Given the description of an element on the screen output the (x, y) to click on. 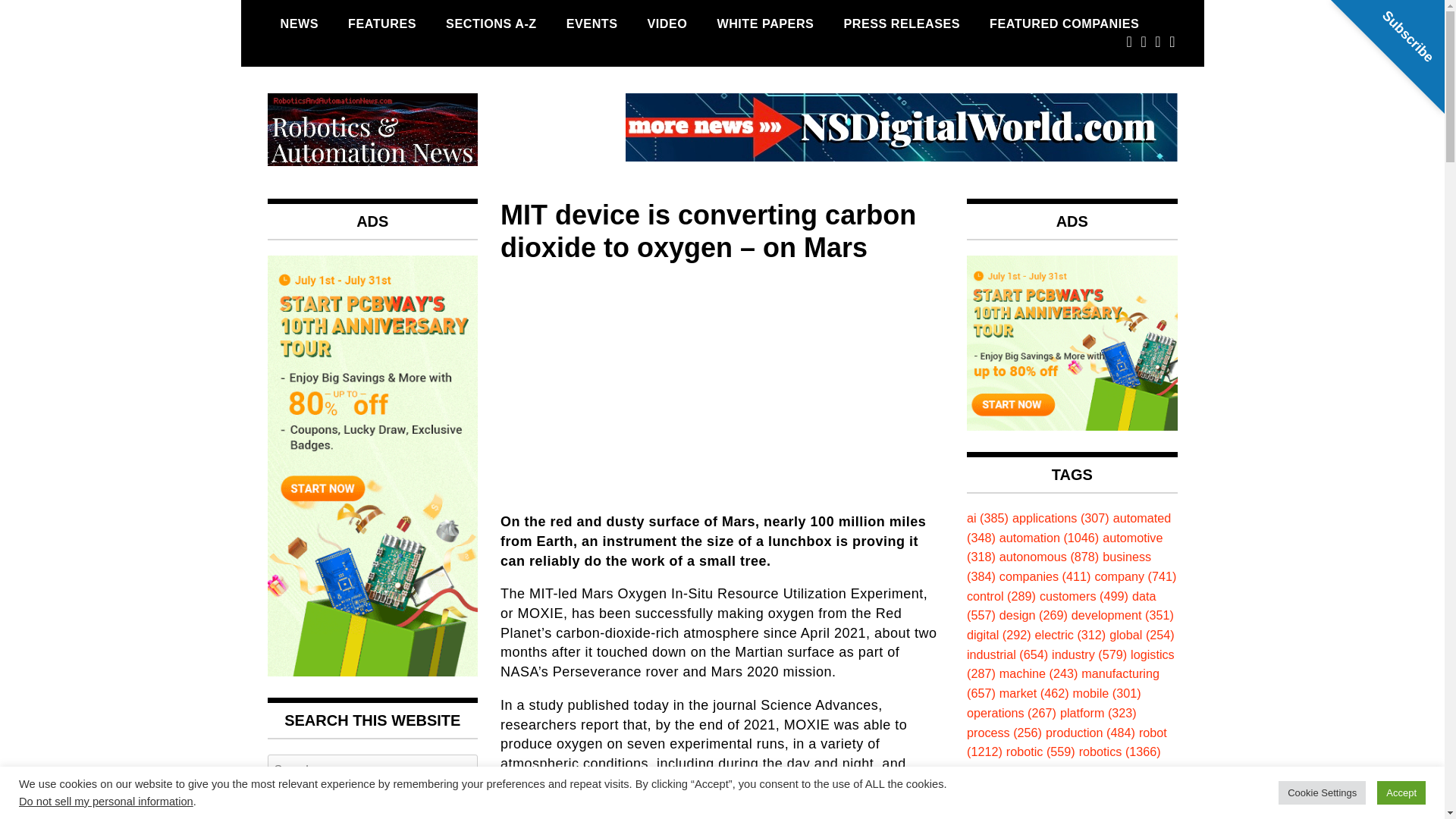
FEATURES (382, 23)
SECTIONS A-Z (490, 23)
NEWS (298, 23)
Advertisement (721, 383)
Search (371, 804)
Search (371, 804)
